Given the description of an element on the screen output the (x, y) to click on. 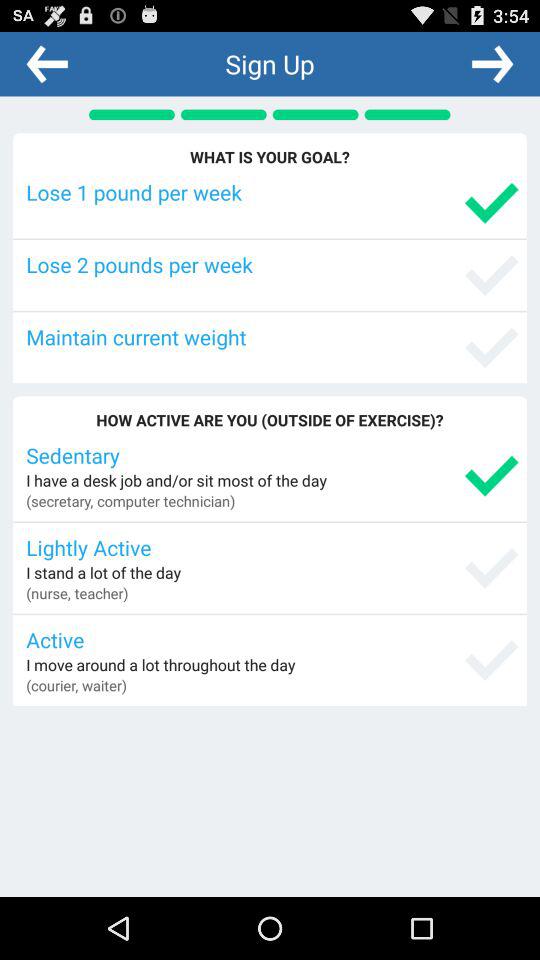
launch lose 1 pound icon (272, 191)
